Given the description of an element on the screen output the (x, y) to click on. 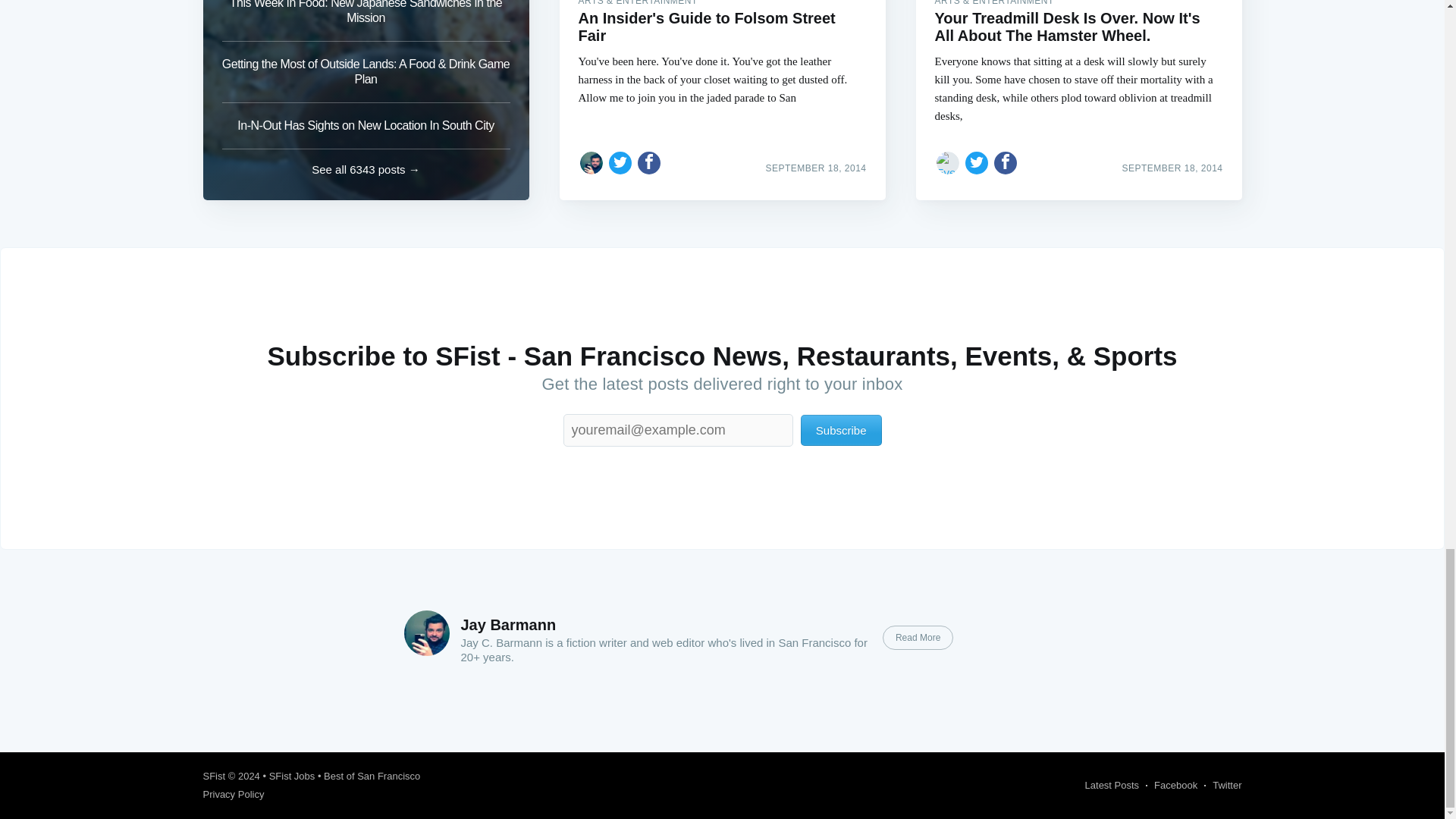
Share on Twitter (976, 162)
This Week In Food: New Japanese Sandwiches In the Mission (365, 20)
Share on Facebook (649, 162)
Share on Facebook (1004, 162)
Share on Twitter (620, 162)
In-N-Out Has Sights on New Location In South City (365, 126)
